Given the description of an element on the screen output the (x, y) to click on. 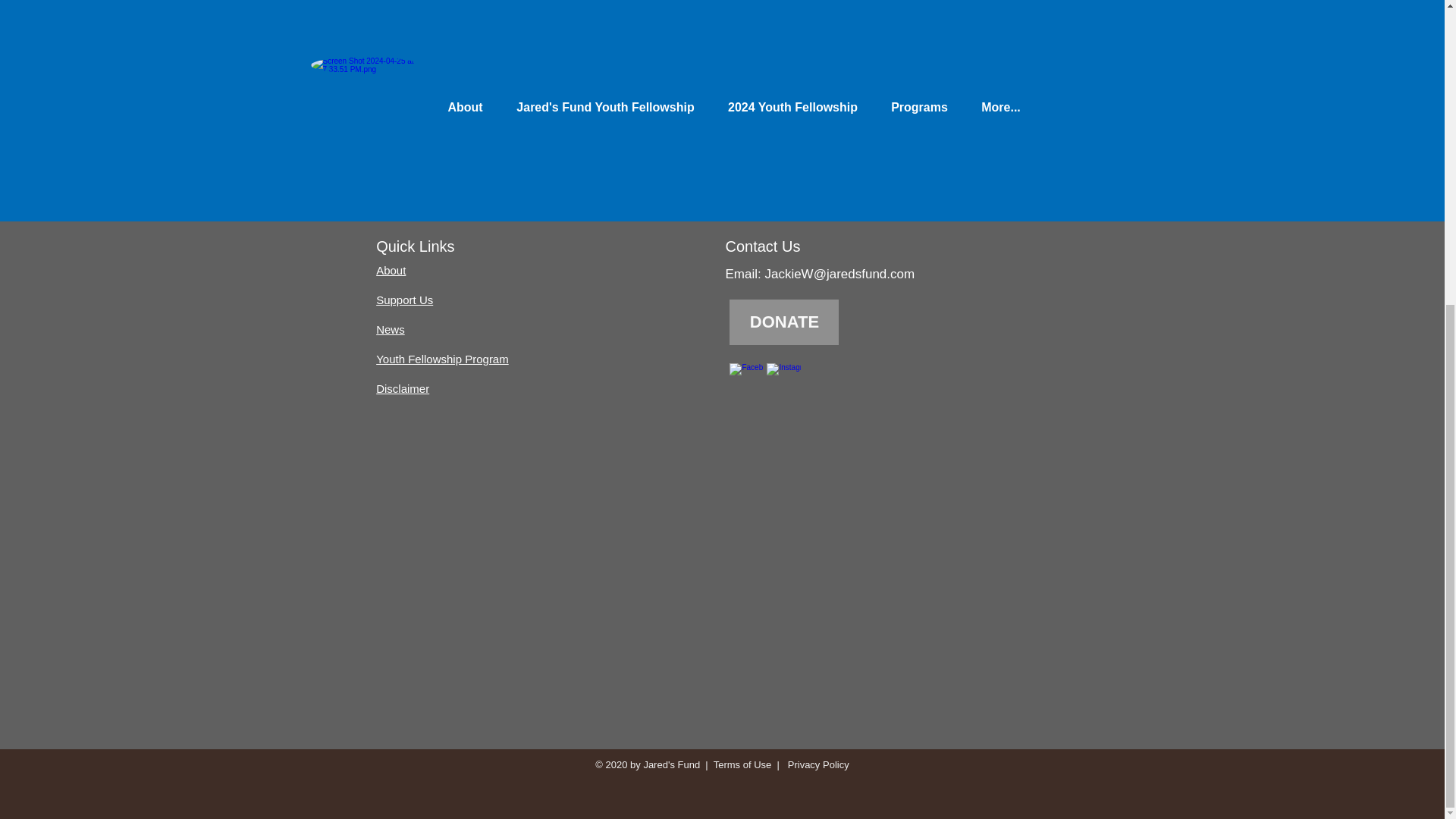
About (390, 269)
 Privacy Policy (816, 764)
News (389, 328)
Disclaimer (402, 388)
DONATE (783, 321)
Support Us (403, 299)
Youth Fellowship Program (441, 358)
Terms of Use (742, 764)
Contact Us (762, 246)
